Given the description of an element on the screen output the (x, y) to click on. 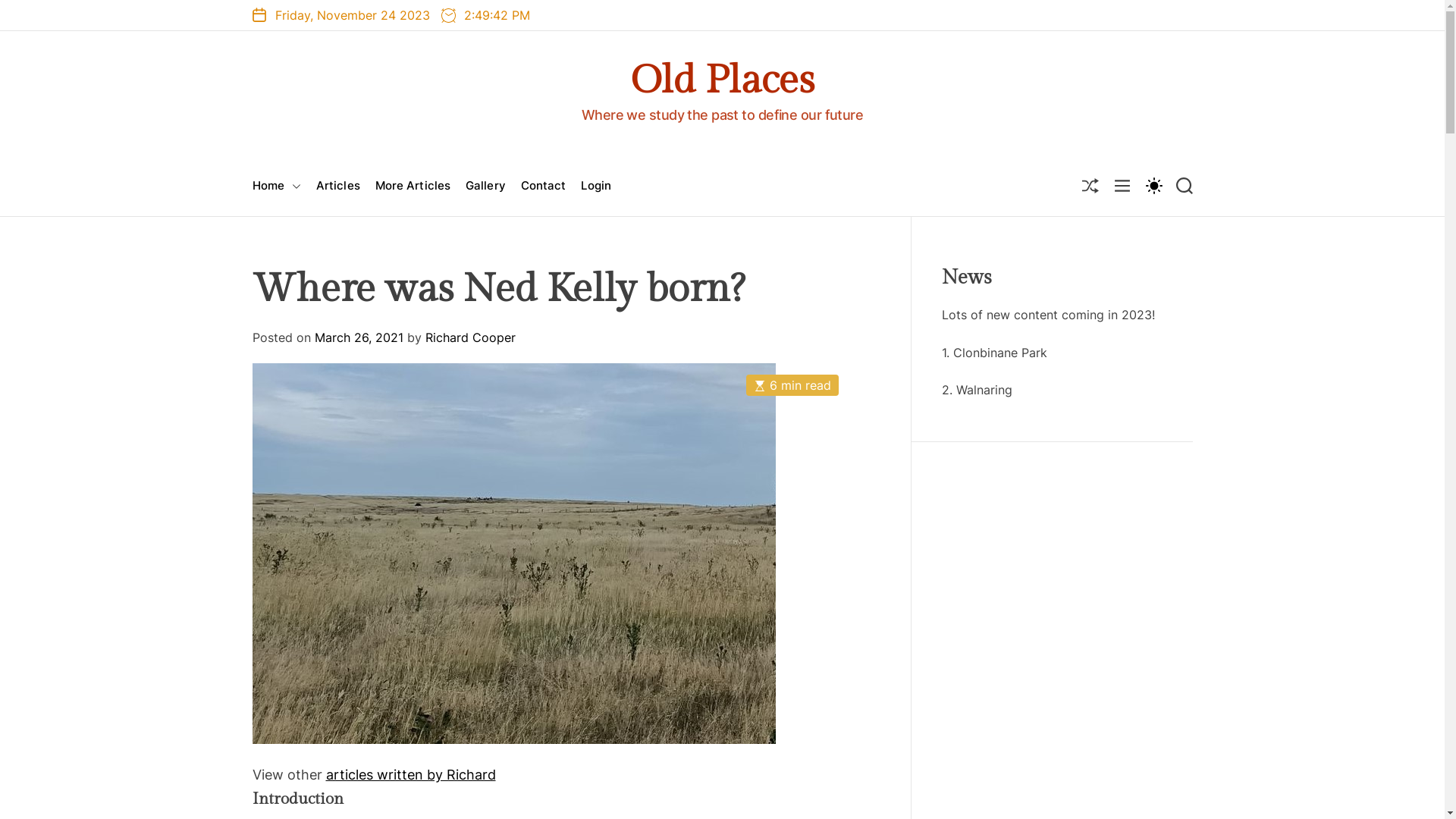
More Articles Element type: text (412, 185)
Old Places Element type: text (721, 80)
articles written by Richard Element type: text (410, 774)
SWITCH COLOR MODE Element type: text (1152, 184)
SHUFFLE Element type: text (1089, 185)
Articles Element type: text (338, 185)
Richard Cooper Element type: text (469, 337)
Login Element type: text (595, 185)
MENU Element type: text (1121, 185)
March 26, 2021 Element type: text (357, 337)
Home Element type: text (275, 185)
Contact Element type: text (543, 185)
Gallery Element type: text (485, 185)
SEARCH Element type: text (1183, 185)
